Given the description of an element on the screen output the (x, y) to click on. 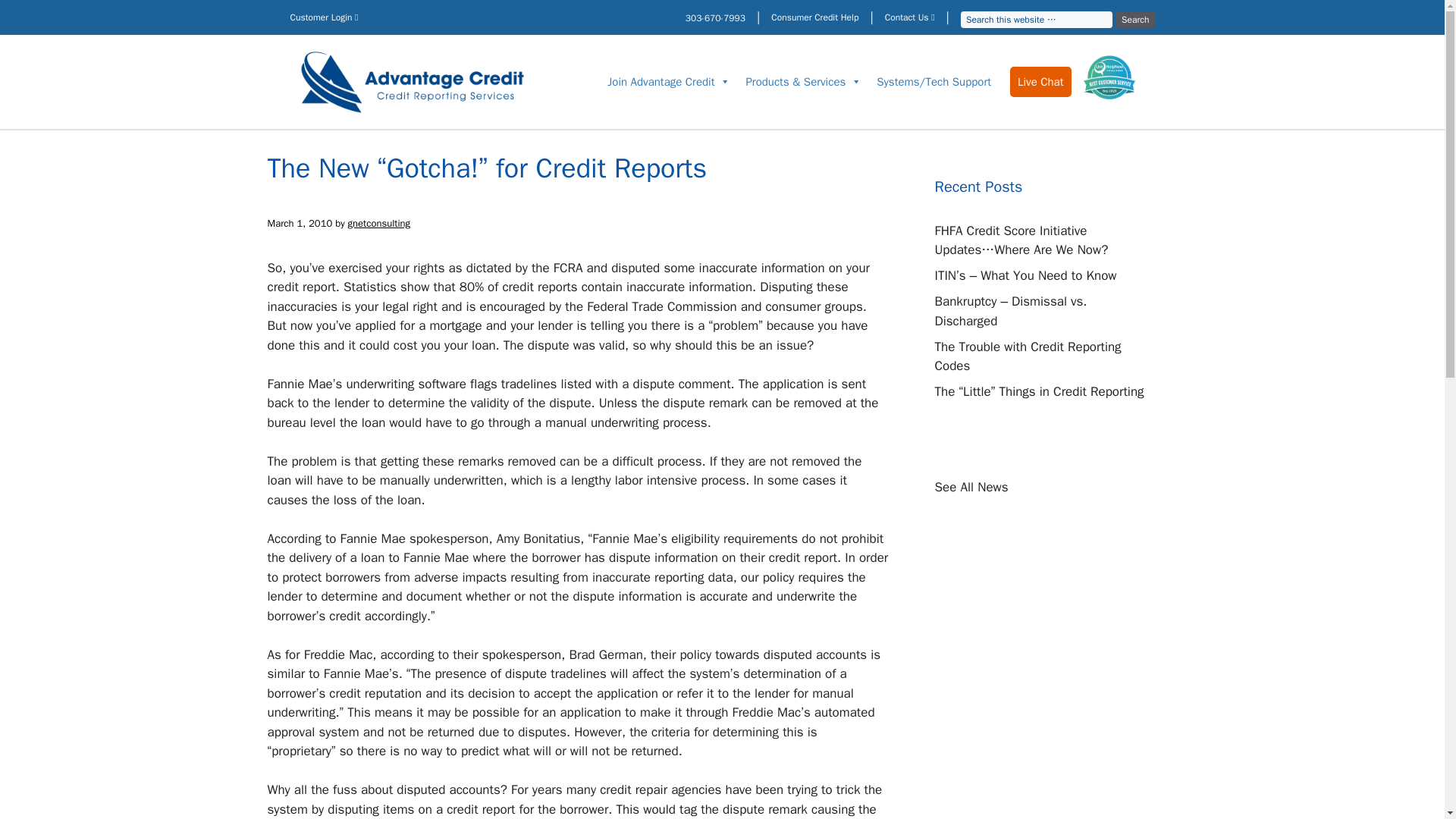
Join Advantage Credit (668, 81)
303-670-7993 (715, 18)
Search (1135, 19)
Search (1135, 19)
View all posts by gnetconsulting (378, 221)
Consumer Credit Help (815, 17)
Search (1135, 19)
